Given the description of an element on the screen output the (x, y) to click on. 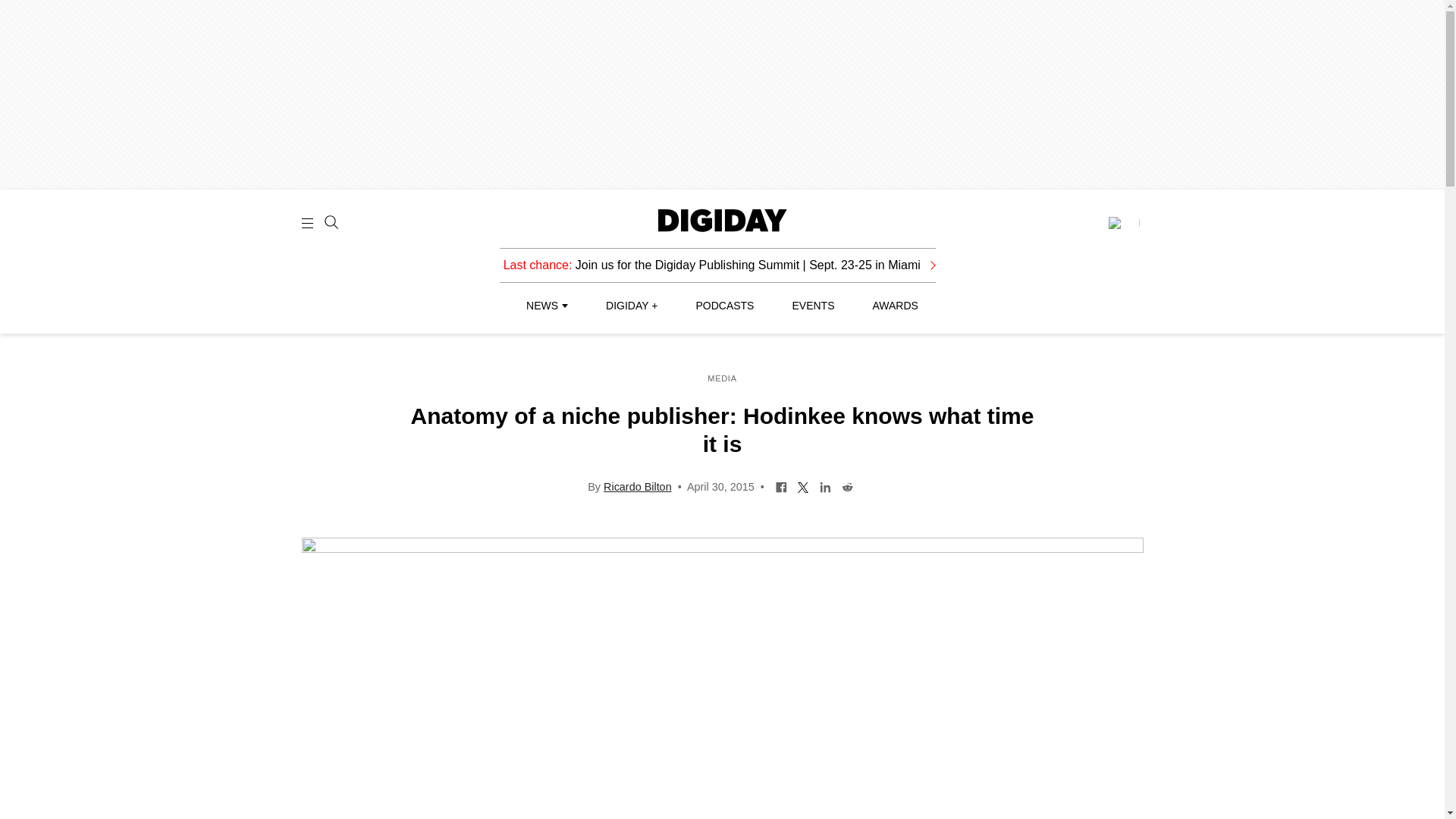
Share on Twitter (802, 485)
Share on LinkedIn (824, 485)
Share on Facebook (780, 485)
PODCASTS (725, 305)
Subscribe (1123, 223)
NEWS (546, 305)
Share on Reddit (847, 485)
EVENTS (813, 305)
AWARDS (894, 305)
